Given the description of an element on the screen output the (x, y) to click on. 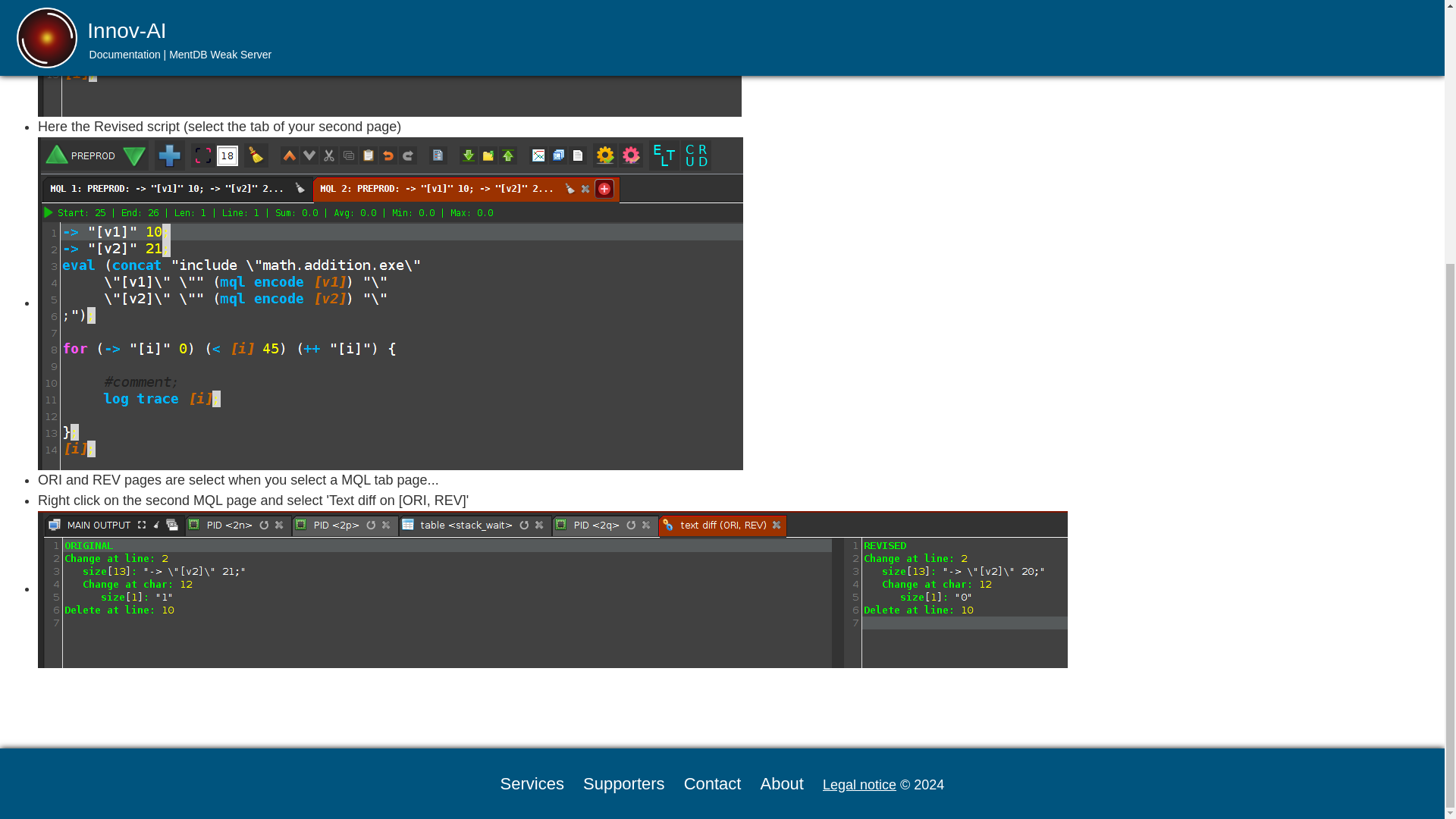
Legal notice (859, 784)
About (781, 783)
Services (532, 783)
Supporters (624, 783)
Contact (712, 783)
